Given the description of an element on the screen output the (x, y) to click on. 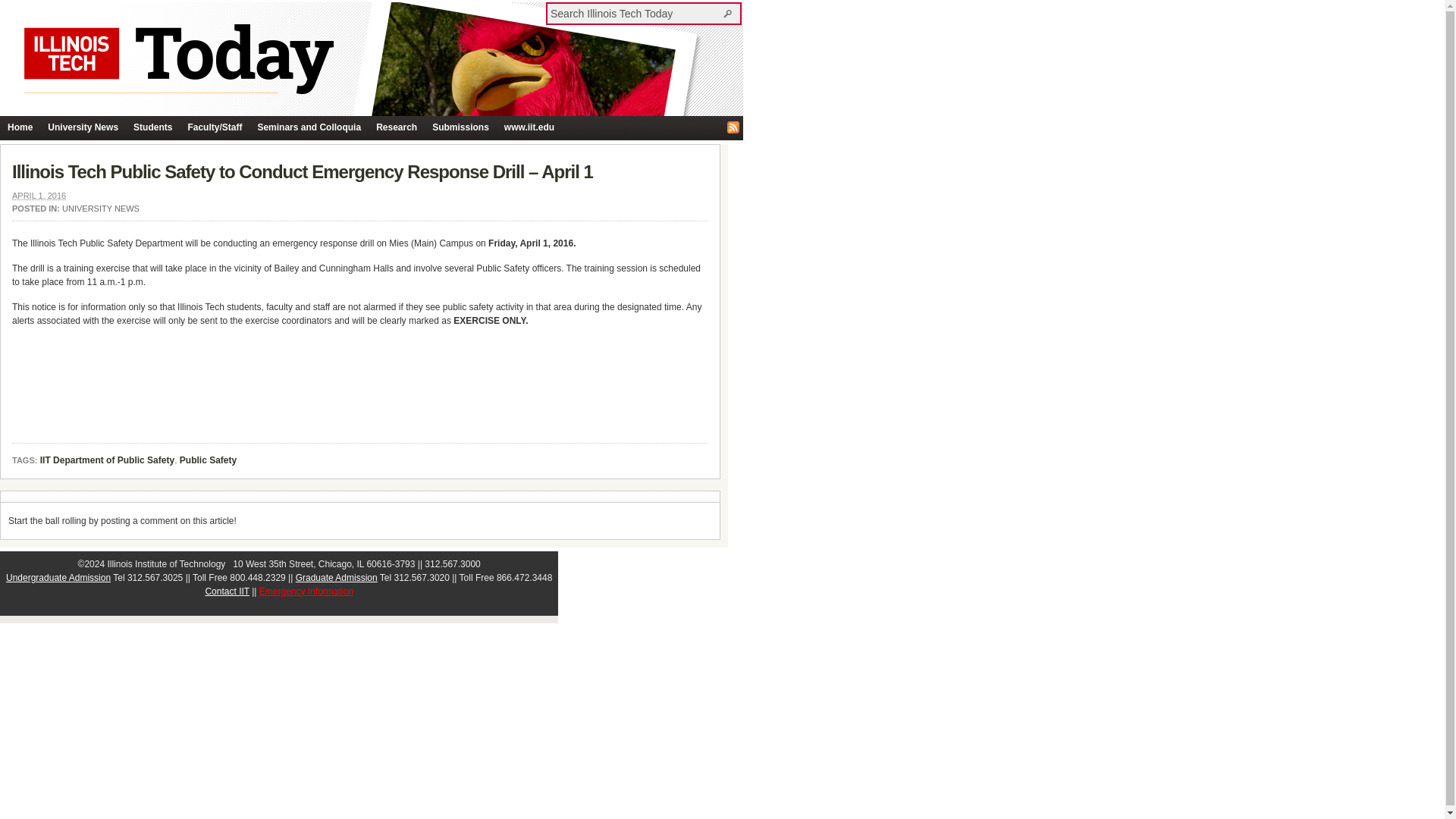
2016-04-01T09:20:01-05:00 (38, 194)
University News (82, 127)
www.iit.edu (529, 127)
Submissions (460, 127)
Contact IIT (226, 591)
Seminars and Colloquia (308, 127)
Emergency Information (306, 591)
Search Illinois Tech Today (636, 13)
IIT Department of Public Safety (107, 460)
Search Illinois Tech Today (729, 13)
